Given the description of an element on the screen output the (x, y) to click on. 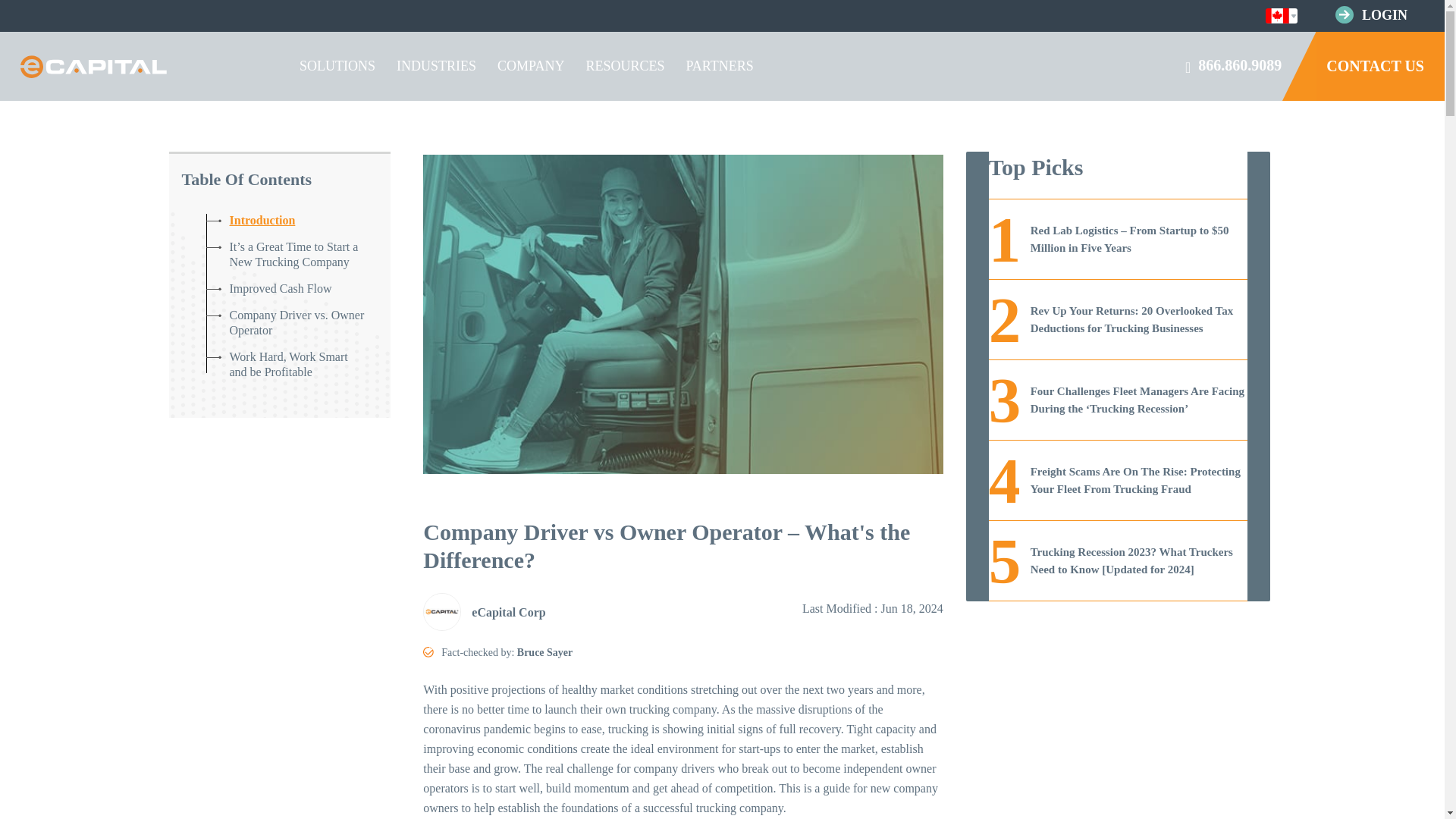
LOGIN (1384, 14)
INDUSTRIES (436, 65)
SOLUTIONS (337, 65)
